Given the description of an element on the screen output the (x, y) to click on. 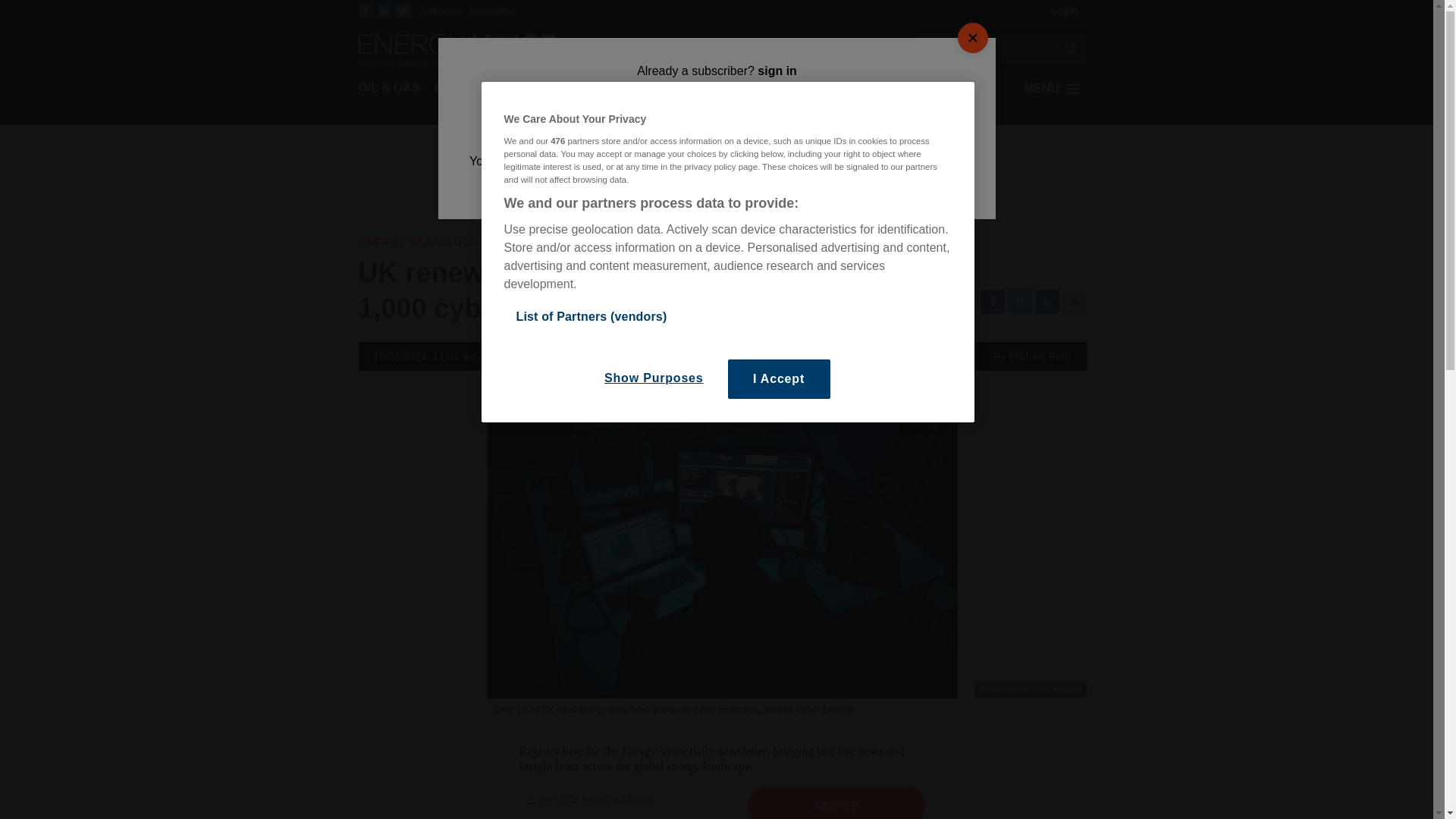
MARKETS (607, 87)
ENERGY TRANSITION (498, 87)
Login (1064, 11)
Newsletter (491, 11)
Linkedin (1045, 301)
Search (987, 50)
Twitter (401, 10)
LinkedIn (383, 10)
Advertise (440, 11)
Facebook (365, 10)
Facebook (991, 301)
Email (1073, 301)
Twitter (1018, 301)
MENU (1054, 87)
Energy Voice (456, 49)
